Given the description of an element on the screen output the (x, y) to click on. 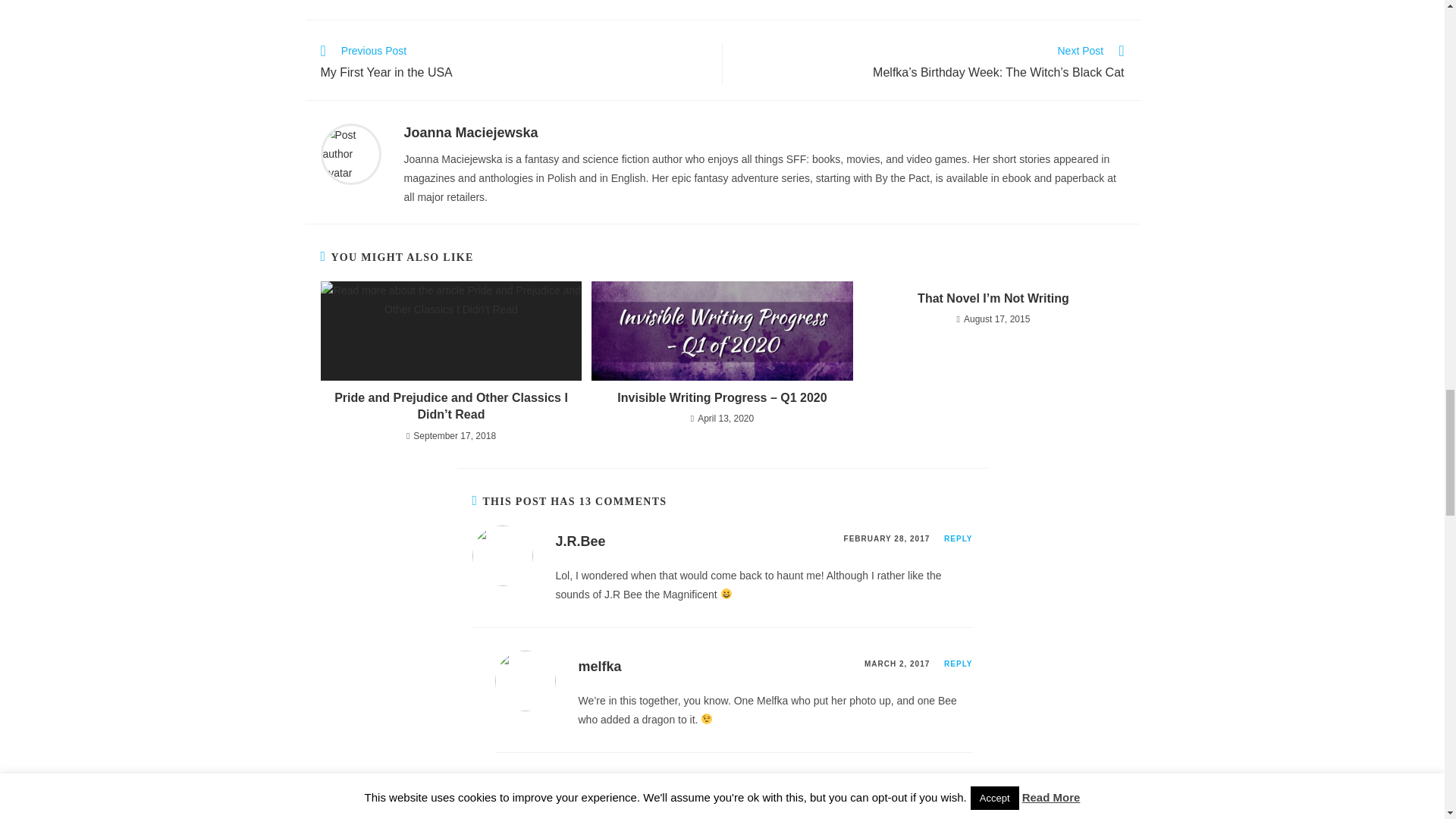
Visit author page (470, 132)
Visit author page (350, 152)
